Given the description of an element on the screen output the (x, y) to click on. 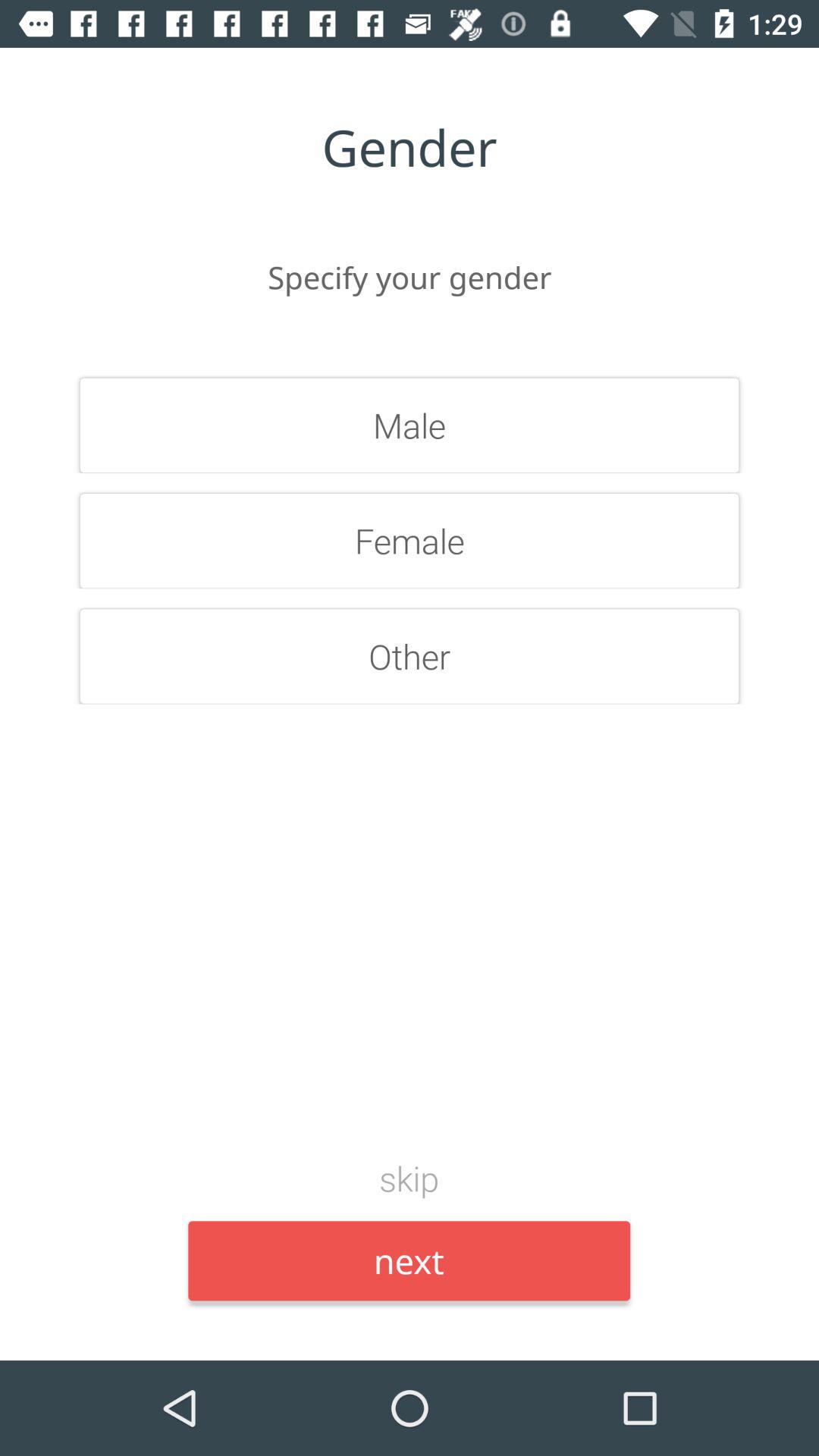
press the female icon (409, 540)
